Given the description of an element on the screen output the (x, y) to click on. 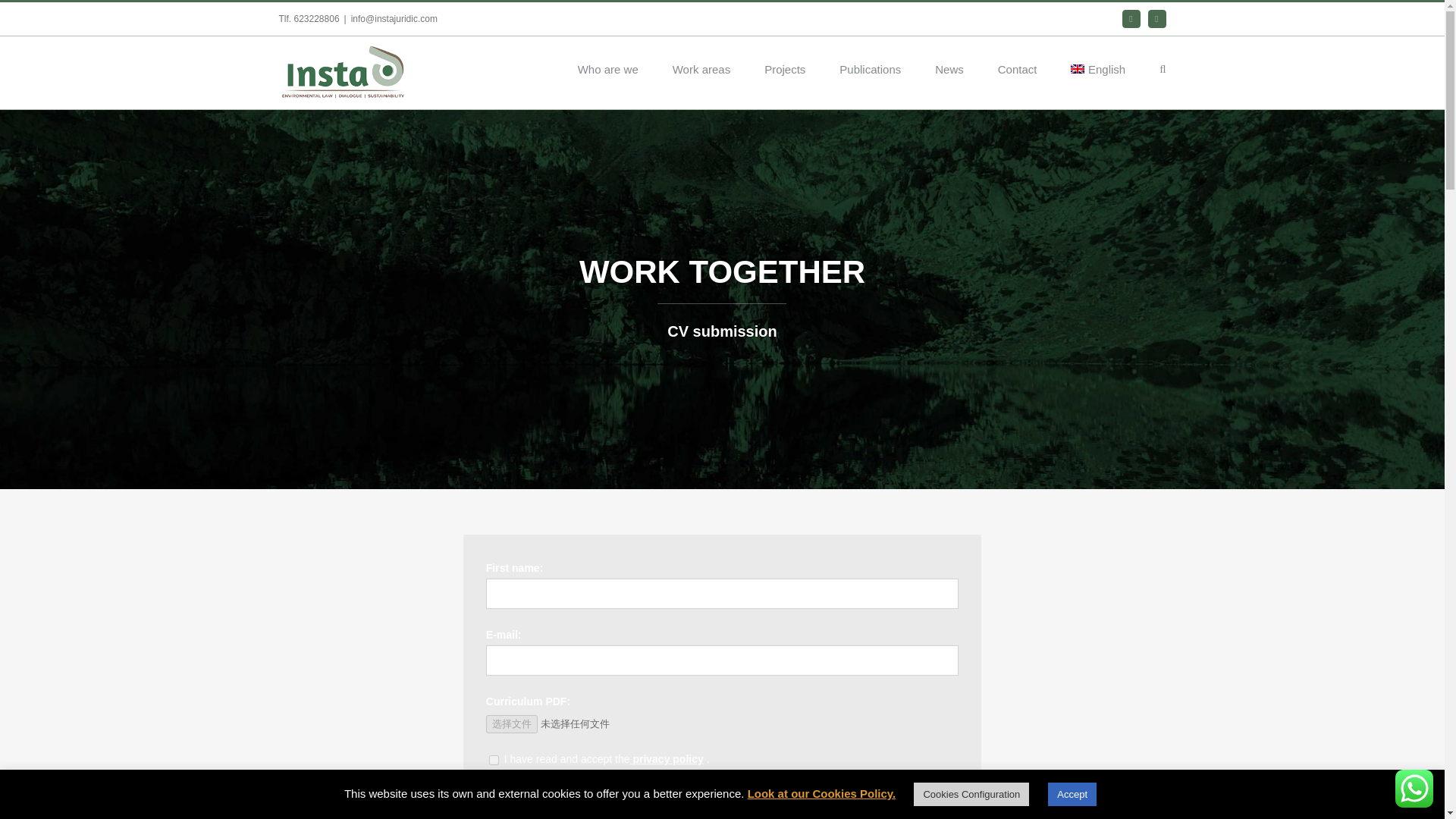
Work areas (701, 67)
LinkedIn (1157, 18)
Who are we (608, 67)
1 (494, 759)
Publications (870, 67)
1 (494, 796)
privacy policy (665, 758)
X (1131, 18)
